Given the description of an element on the screen output the (x, y) to click on. 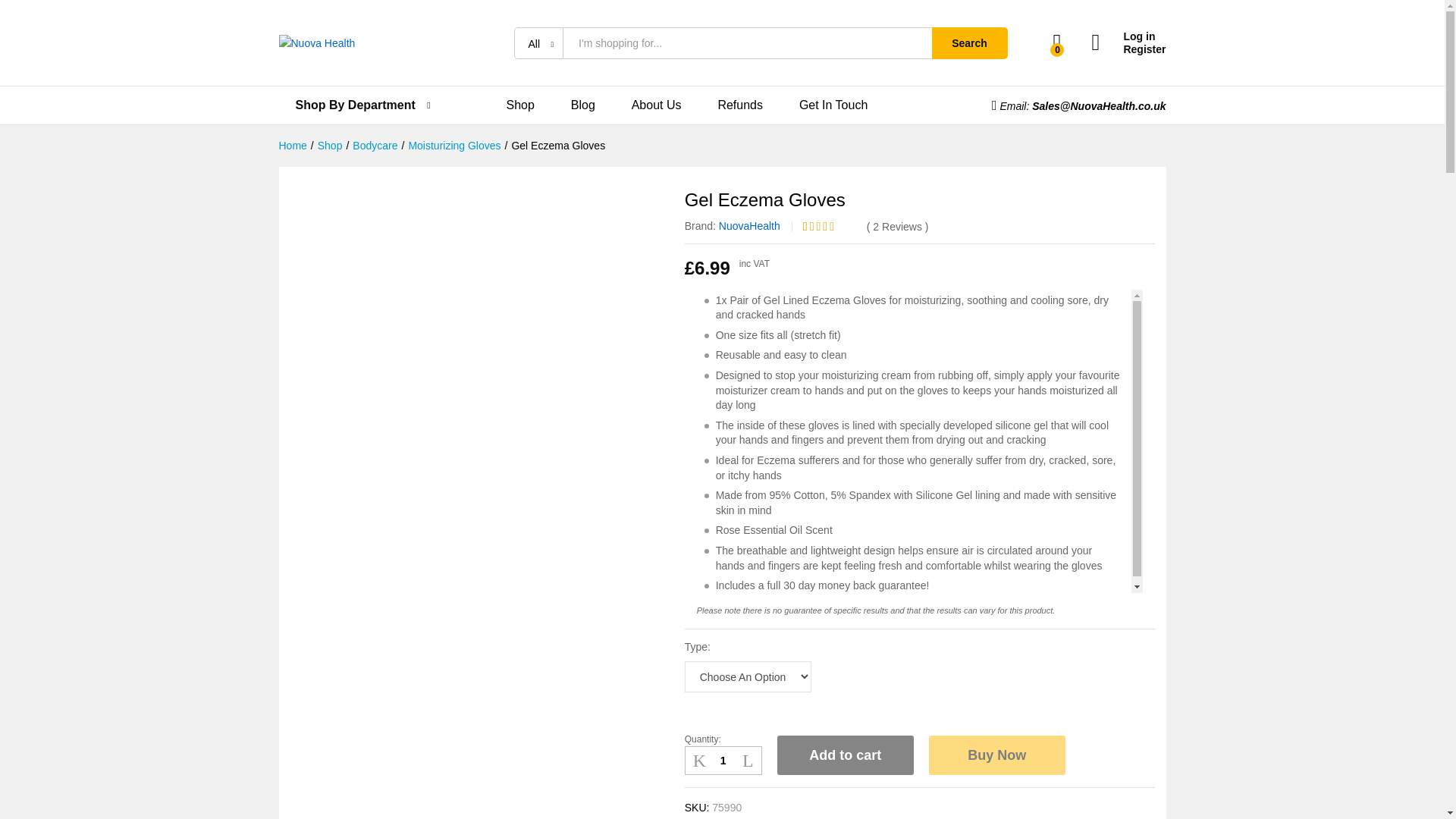
Search (969, 42)
Register (1128, 49)
Log in (1128, 36)
Qty (722, 759)
1 (722, 759)
